Given the description of an element on the screen output the (x, y) to click on. 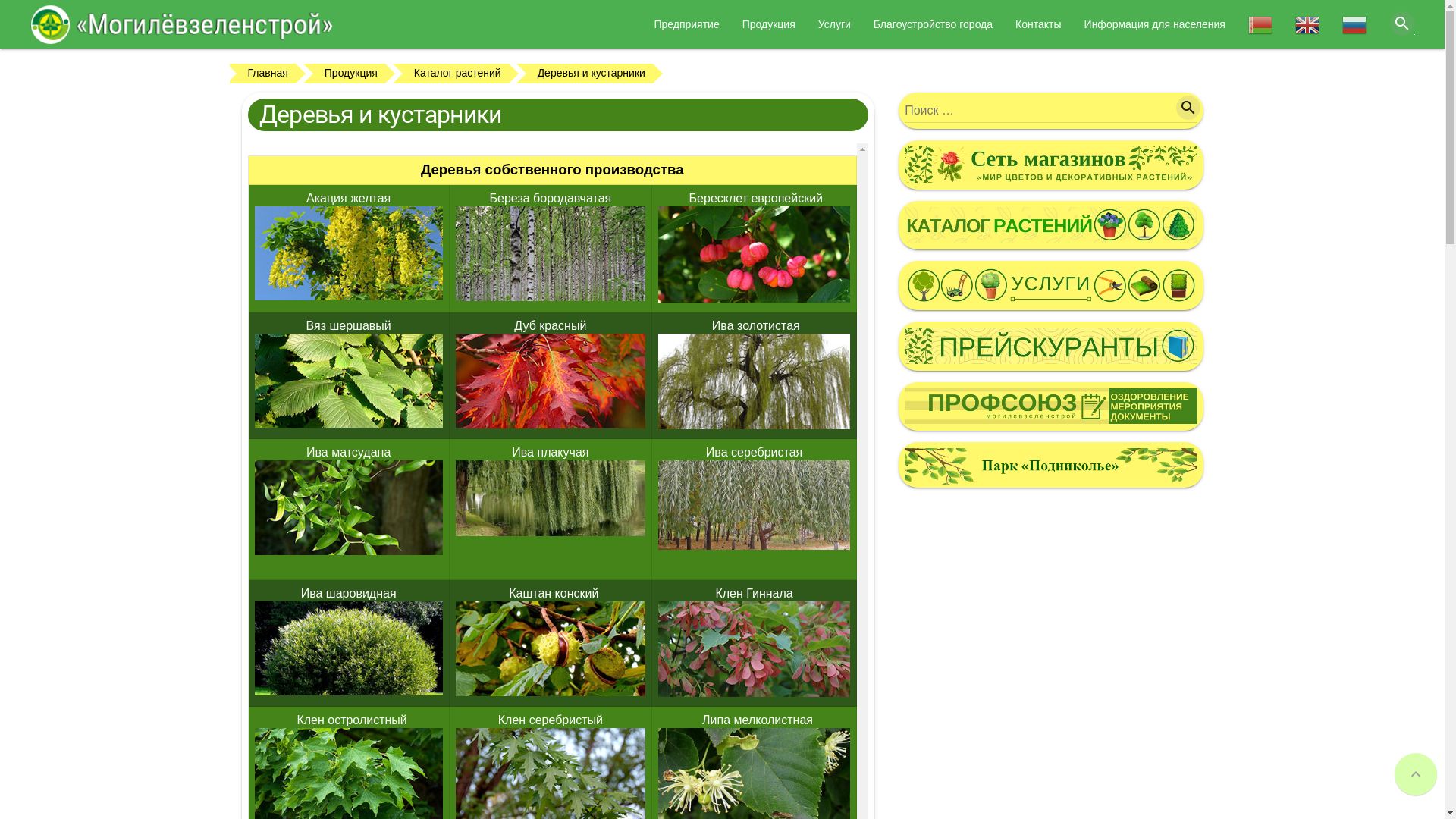
search Element type: text (1187, 107)
English Element type: hover (1306, 30)
Russian Element type: hover (1353, 30)
Belarusian Element type: hover (1259, 30)
